Given the description of an element on the screen output the (x, y) to click on. 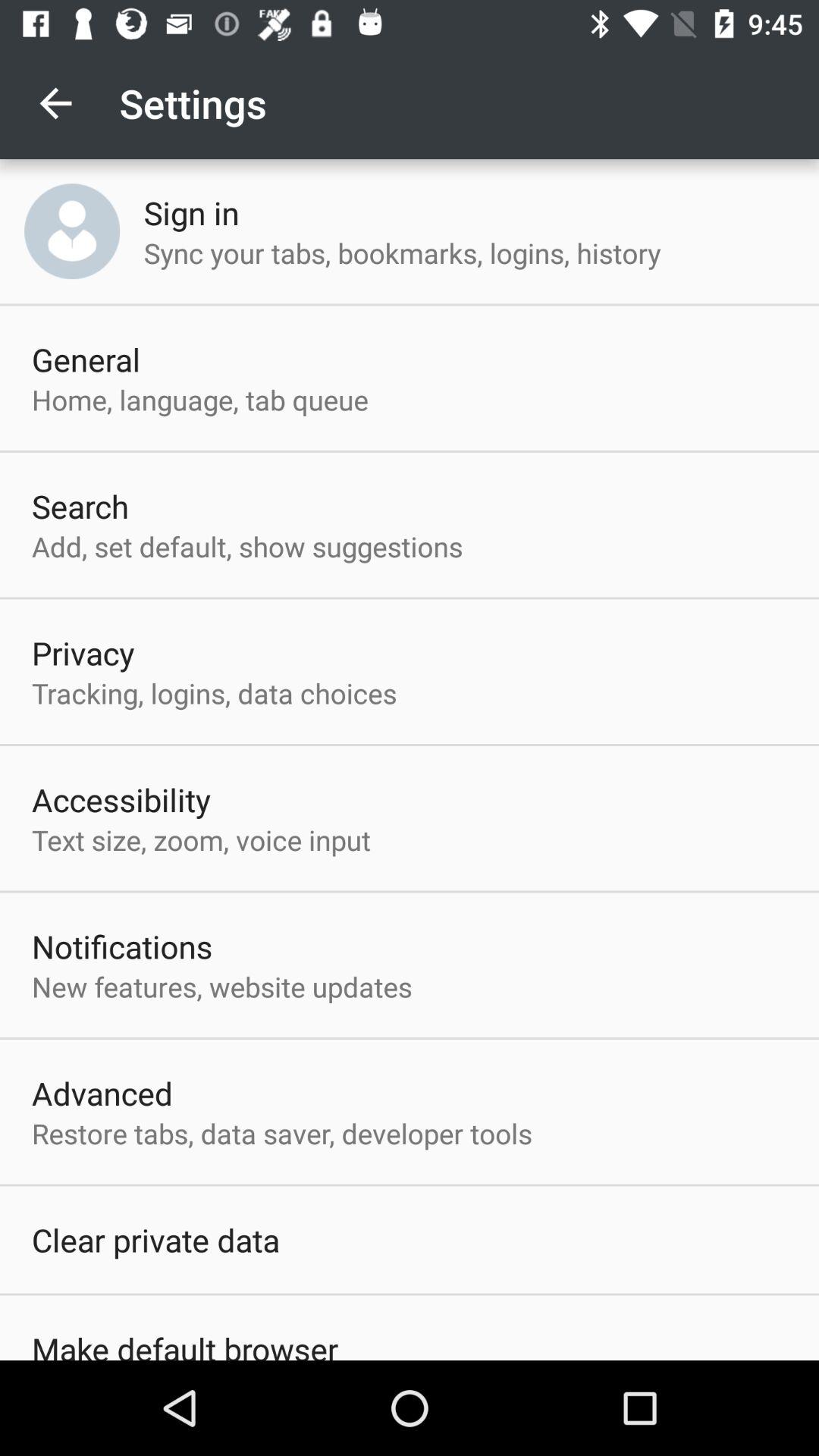
select the sync your tabs item (401, 252)
